Given the description of an element on the screen output the (x, y) to click on. 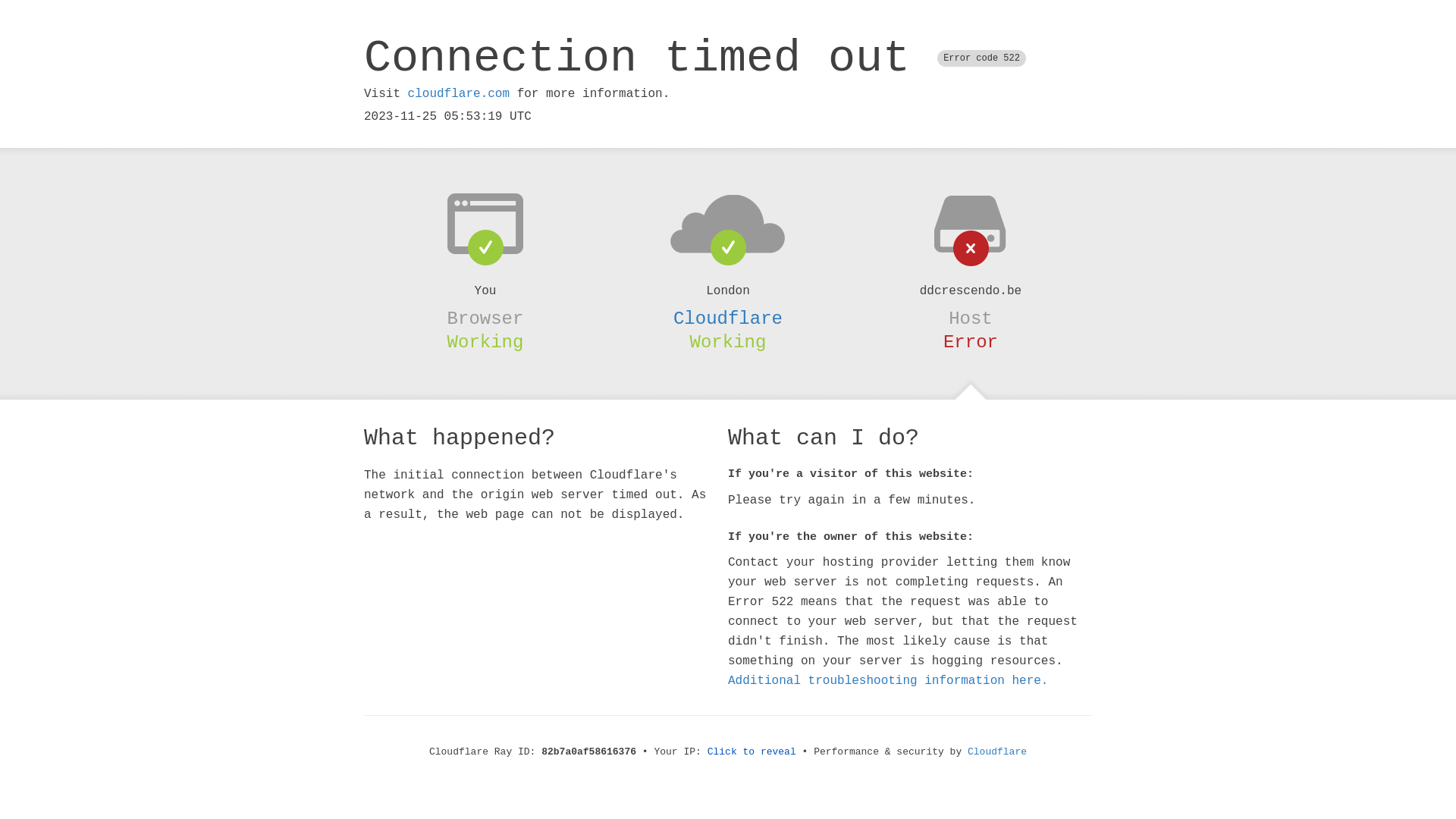
cloudflare.com Element type: text (458, 93)
Additional troubleshooting information here. Element type: text (888, 680)
Cloudflare Element type: text (727, 318)
Cloudflare Element type: text (996, 751)
Click to reveal Element type: text (751, 751)
